Given the description of an element on the screen output the (x, y) to click on. 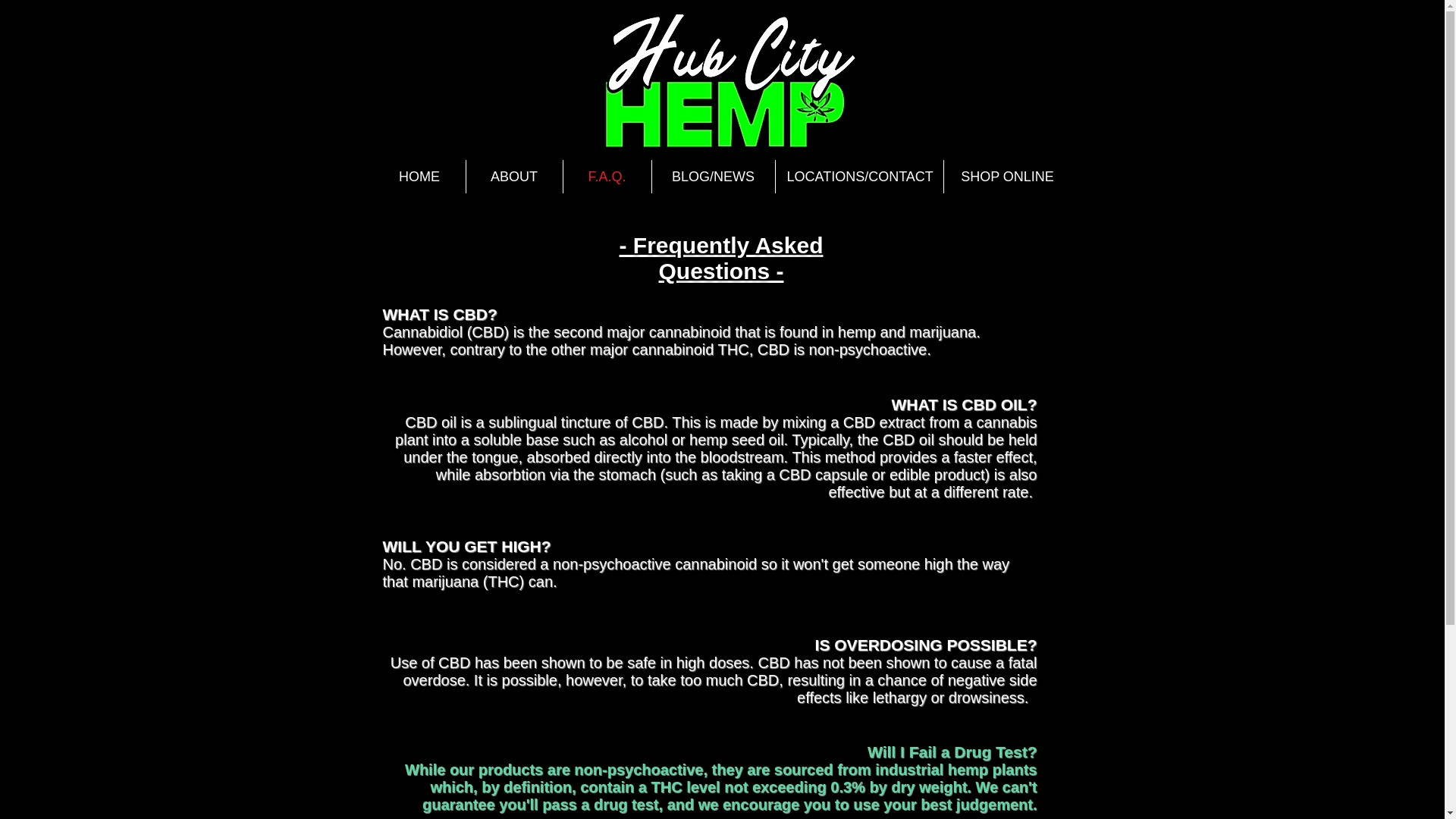
SHOP ONLINE (1006, 176)
HOME (418, 176)
ABOUT (513, 176)
F.A.Q. (606, 176)
